Given the description of an element on the screen output the (x, y) to click on. 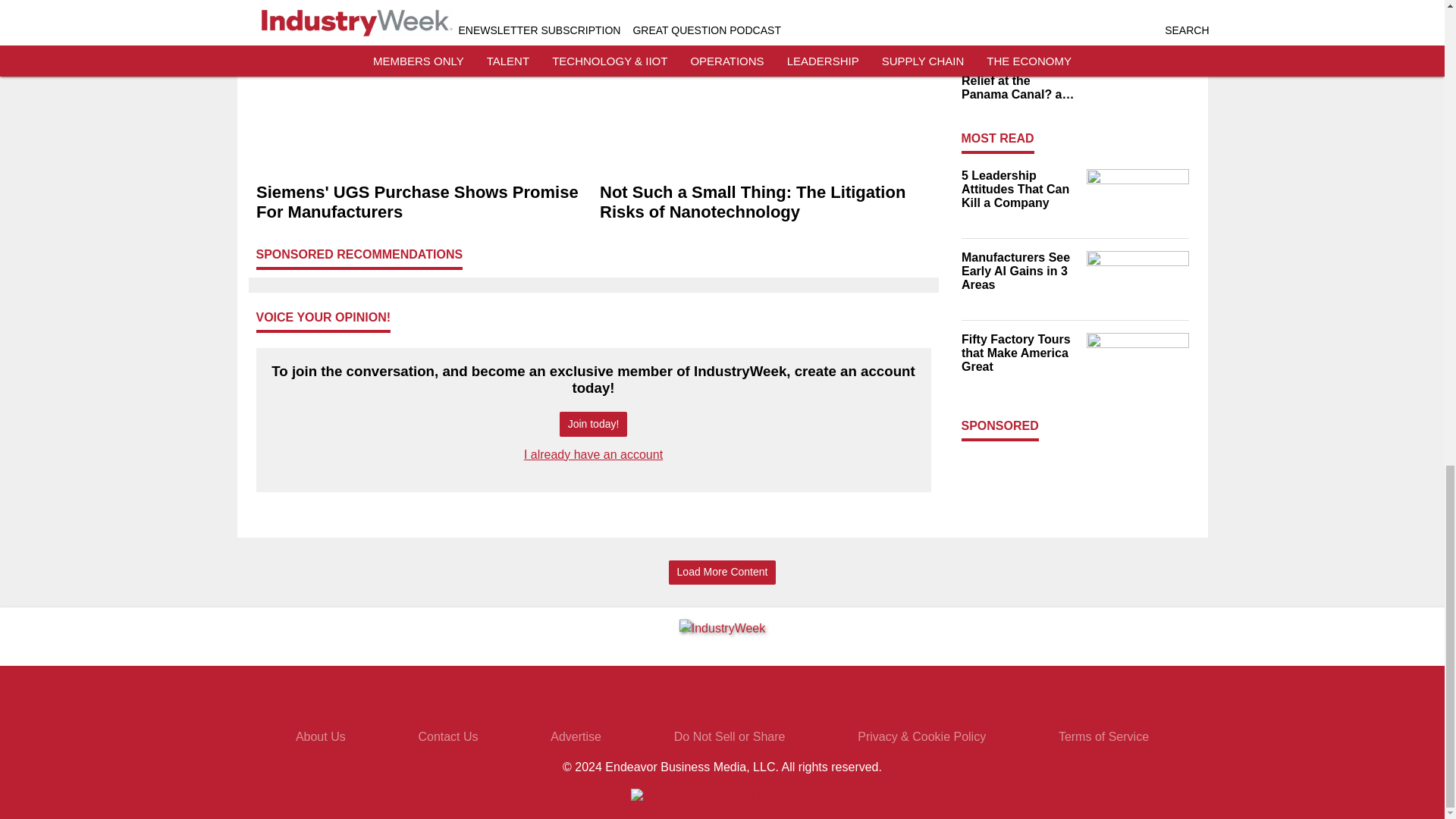
Siemens' UGS Purchase Shows Promise For Manufacturers (422, 201)
Join today! (593, 423)
I already have an account (593, 454)
So That Happened: Another Industrial Cyberattack (1019, 9)
5 Leadership Attitudes That Can Kill a Company (1019, 188)
